Given the description of an element on the screen output the (x, y) to click on. 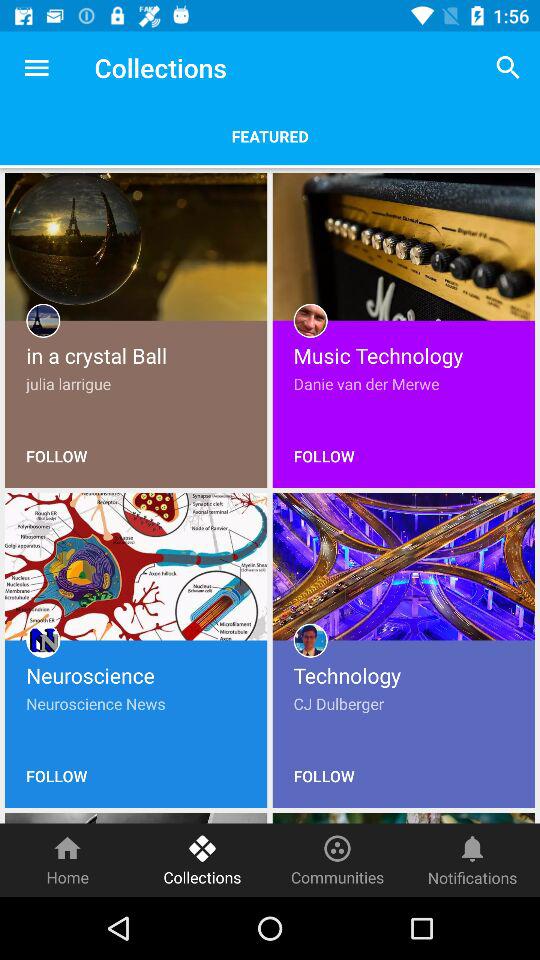
select the icon to the left of the notifications icon (337, 859)
